Given the description of an element on the screen output the (x, y) to click on. 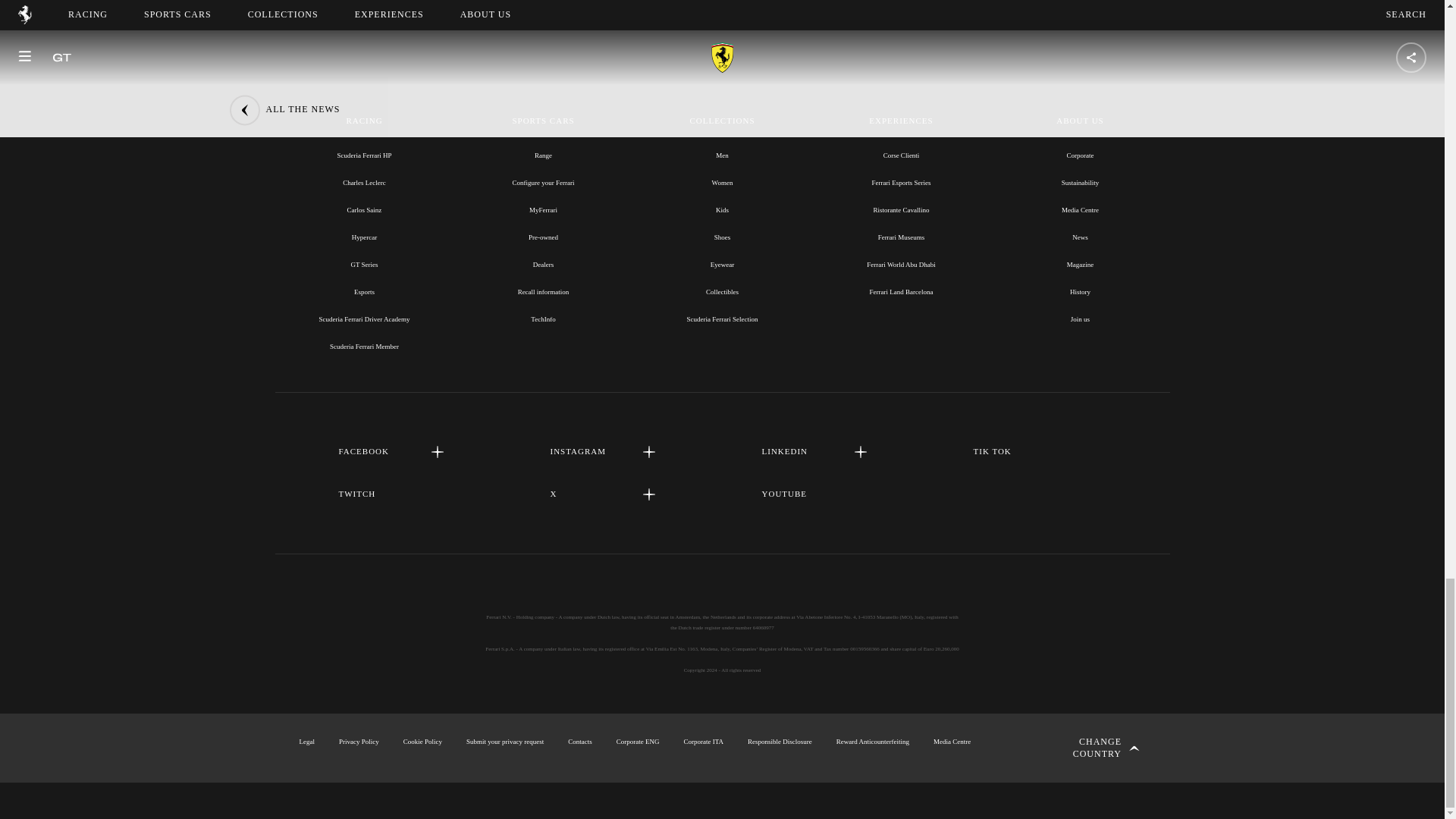
Scuderia Ferrari Member (364, 346)
Carlos Sainz (364, 209)
SUBSCRIBE (721, 2)
Dealers (542, 264)
Range (542, 154)
Scuderia Ferrari HP (363, 154)
Configure your Ferrari (543, 182)
GT Series (363, 264)
Charles Leclerc (363, 182)
Recall information (543, 291)
